Given the description of an element on the screen output the (x, y) to click on. 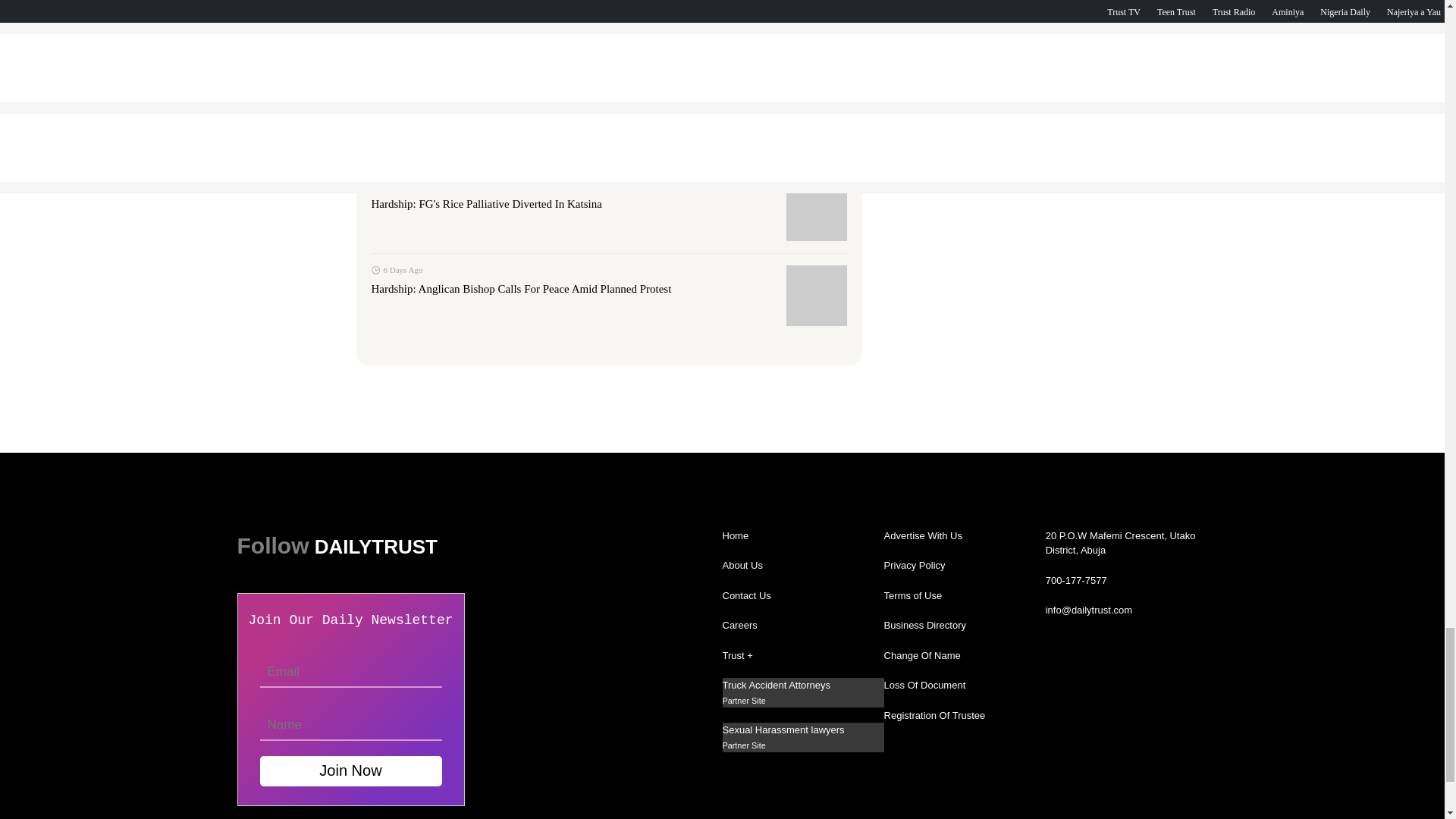
Join Now (350, 770)
